Given the description of an element on the screen output the (x, y) to click on. 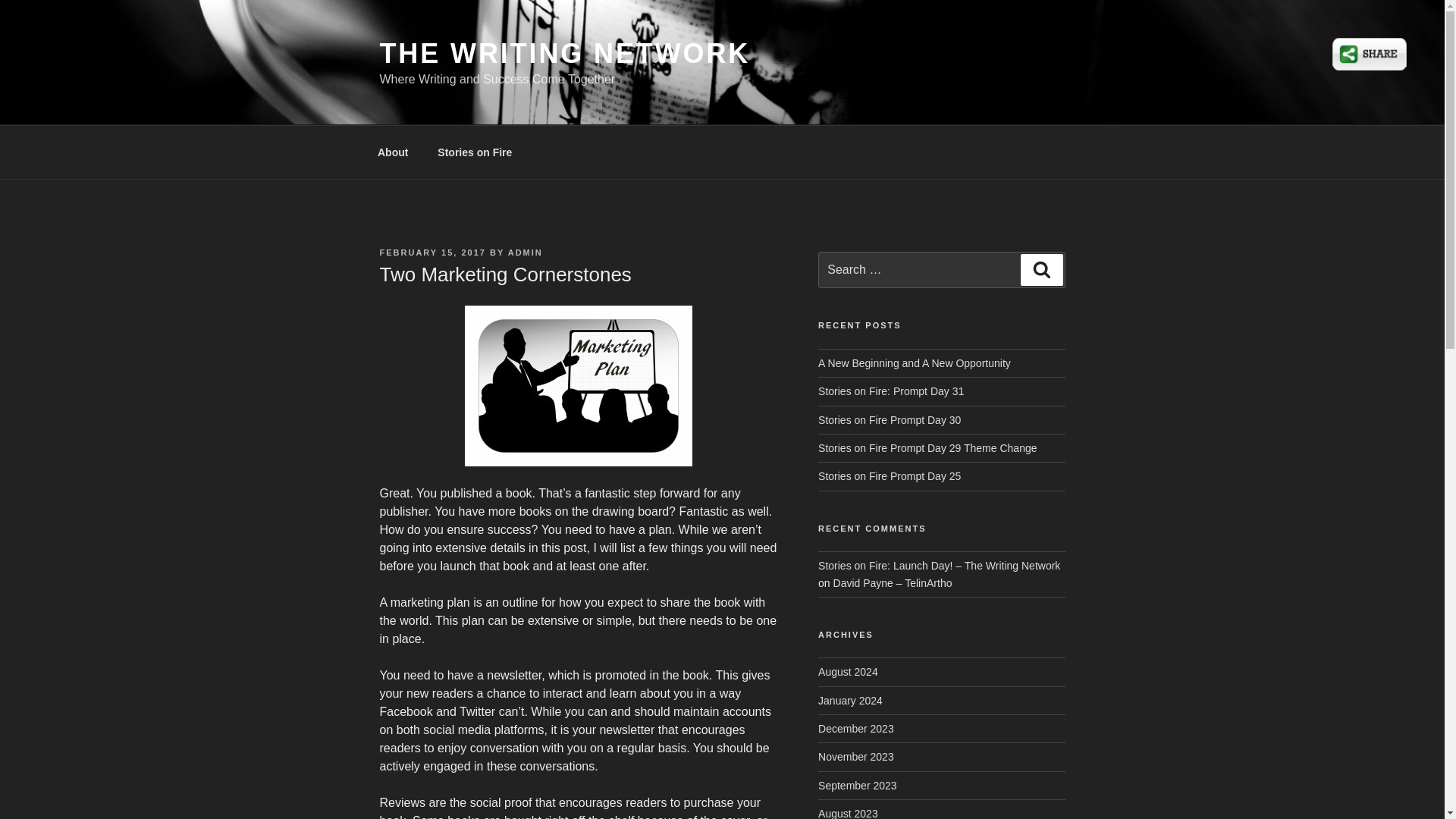
August 2023 (847, 813)
September 2023 (857, 785)
Search (1041, 269)
Stories on Fire: Prompt Day 31 (890, 390)
Stories on Fire Prompt Day 25 (889, 476)
A New Beginning and A New Opportunity (914, 363)
Stories on Fire Prompt Day 30 (889, 419)
December 2023 (855, 728)
Stories on Fire (475, 151)
November 2023 (855, 756)
